Given the description of an element on the screen output the (x, y) to click on. 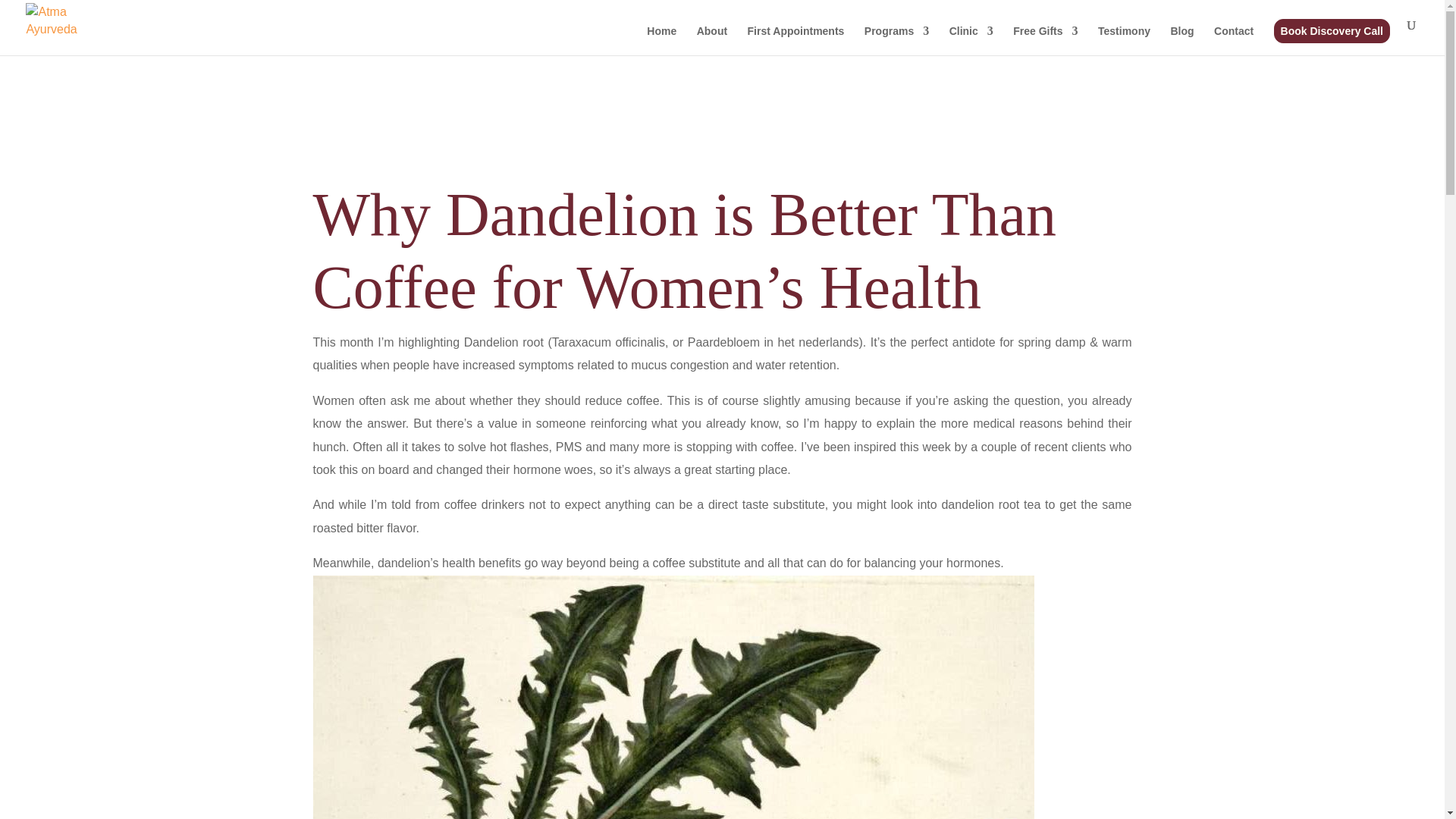
Programs (896, 40)
Contact (1233, 40)
About (711, 40)
Clinic (970, 40)
First Appointments (796, 40)
Book Discovery Call (1332, 30)
Testimony (1123, 40)
Free Gifts (1045, 40)
Home (661, 40)
